Given the description of an element on the screen output the (x, y) to click on. 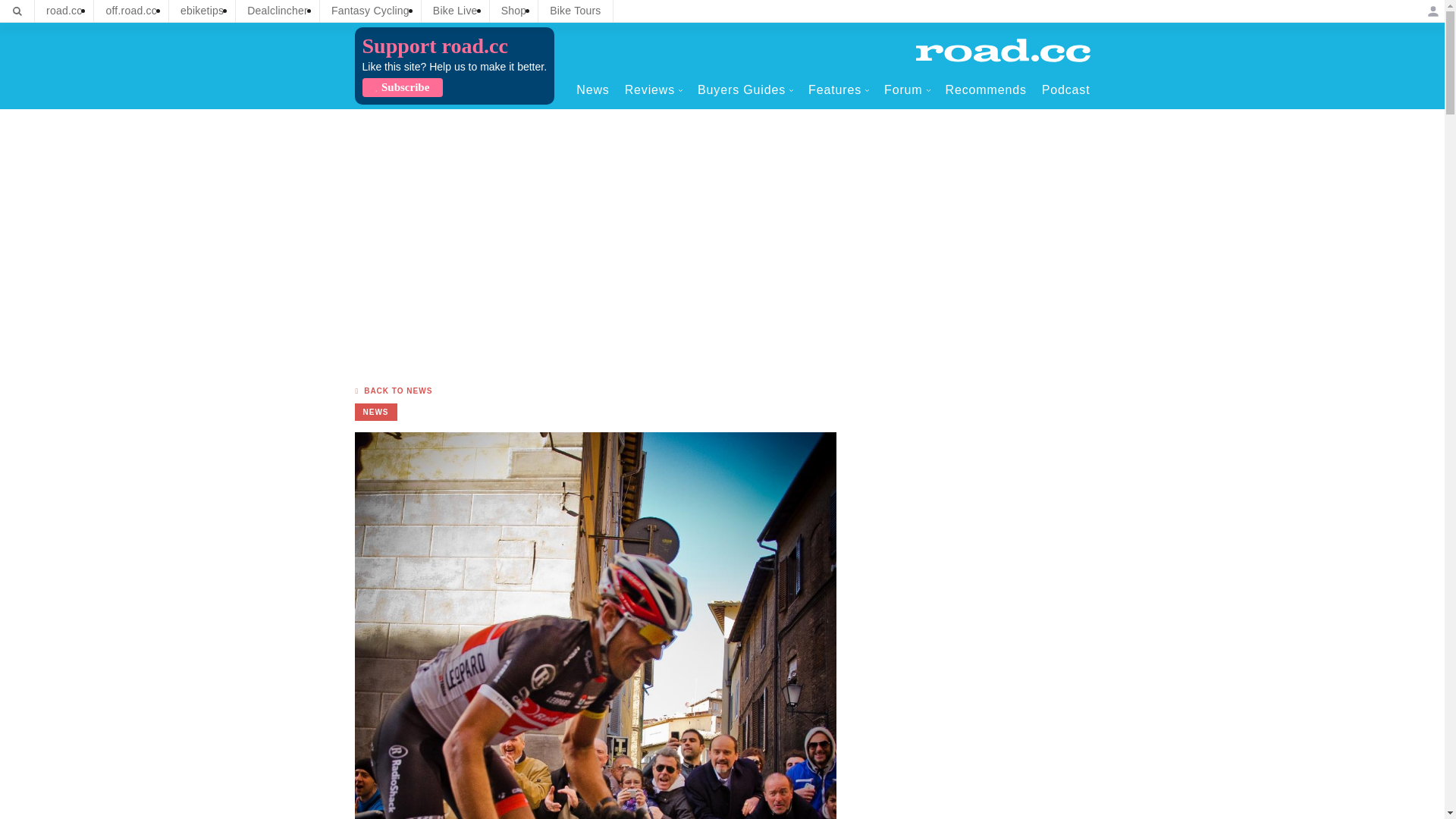
road.cc (63, 11)
off.road.cc (131, 11)
Reviews (653, 89)
Fantasy Cycling (370, 11)
ebiketips (201, 11)
Home (1002, 50)
Bike Live (455, 11)
Shop (513, 11)
Bike Tours (574, 11)
Subscribe (402, 87)
